Given the description of an element on the screen output the (x, y) to click on. 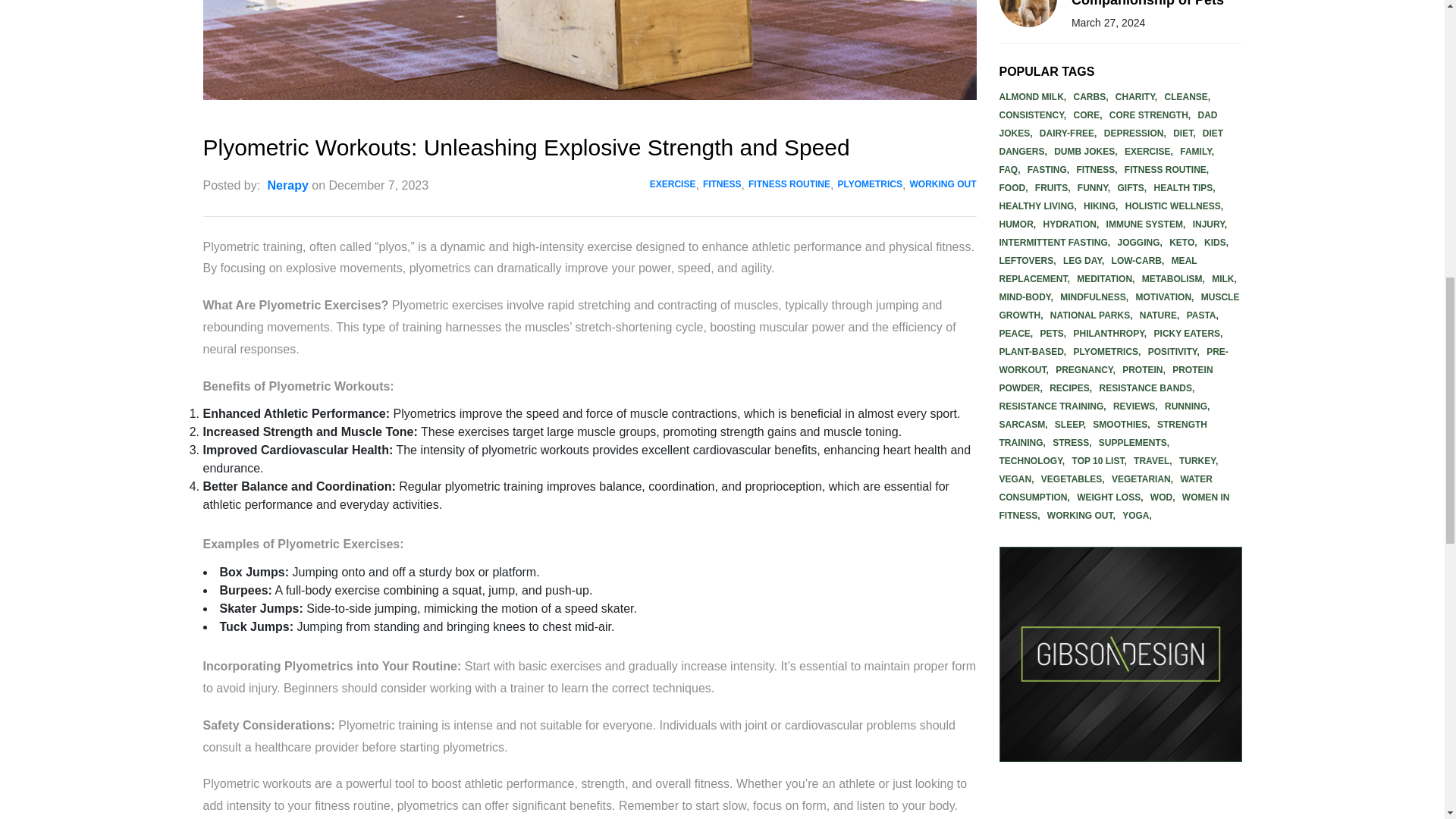
ALMOND MILK, (1033, 96)
CONSISTENCY, (1033, 114)
The Joyful Companionship of Pets (1155, 14)
Plyometric Workouts: Unleashing Explosive Strength and Speed (589, 49)
FITNESS (719, 184)
CHARITY, (1137, 96)
PLYOMETRICS (867, 184)
FITNESS ROUTINE (786, 184)
CORE, (1089, 114)
EXERCISE (670, 184)
